Given the description of an element on the screen output the (x, y) to click on. 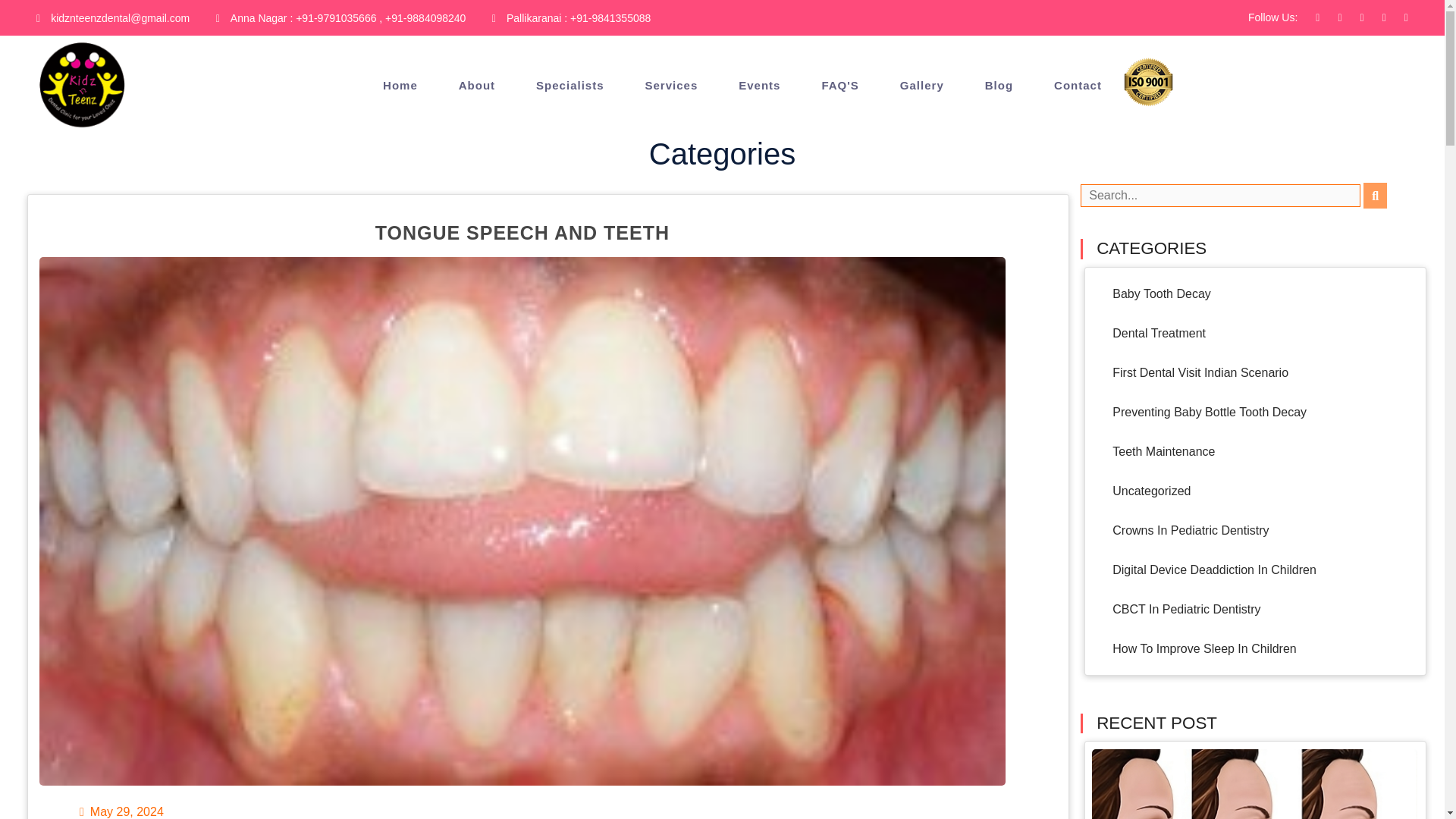
Contact (1077, 85)
FAQ'S (839, 85)
Blog (998, 85)
Events (758, 85)
Gallery (921, 85)
TONGUE SPEECH AND TEETH (522, 232)
Home (400, 85)
Services (671, 85)
Specialists (569, 85)
About (476, 85)
May 29, 2024 (121, 811)
